Given the description of an element on the screen output the (x, y) to click on. 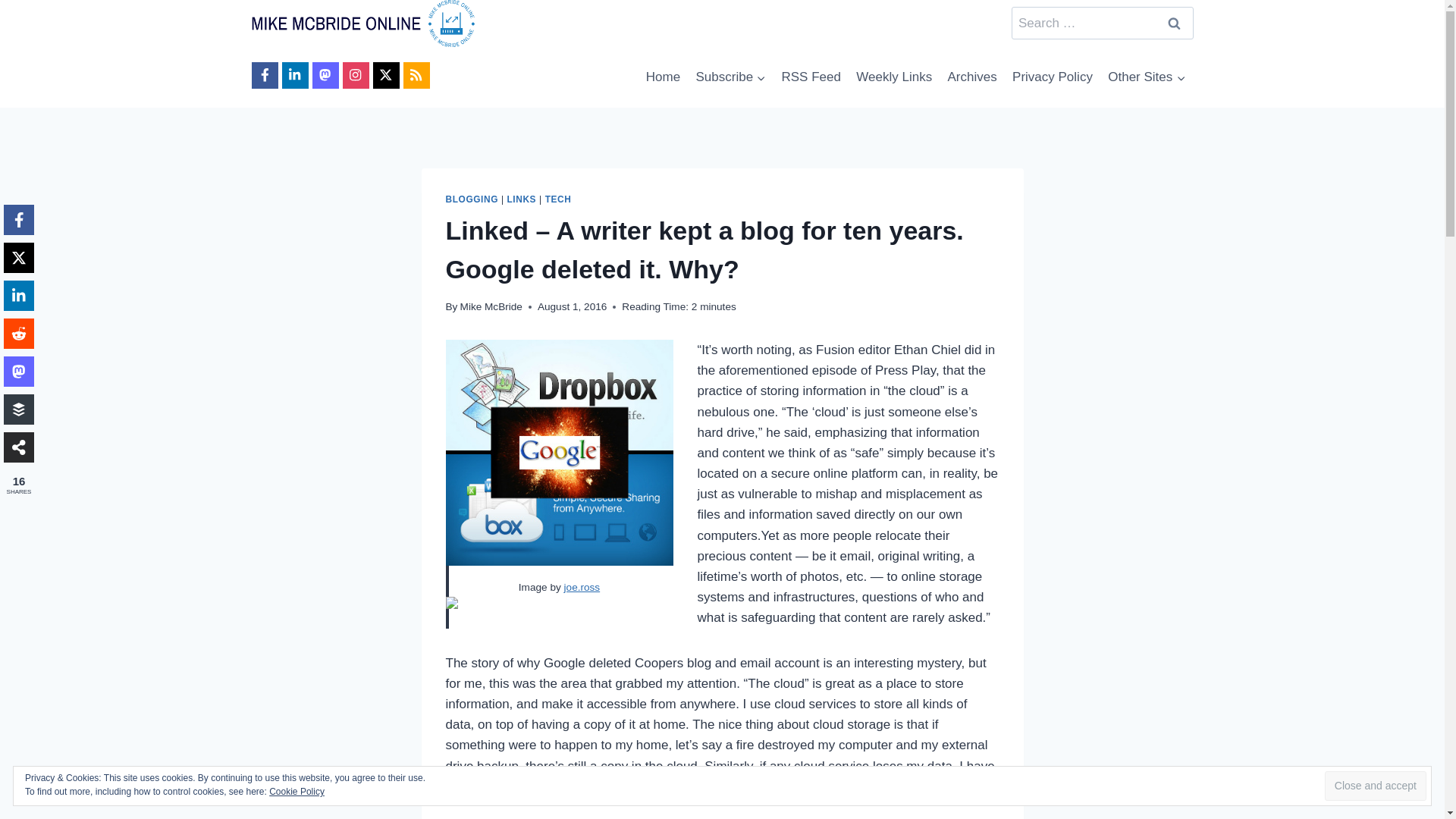
Weekly Links (893, 76)
LINKS (520, 199)
BLOGGING (472, 199)
Search (1174, 22)
Other Sites (1146, 76)
Privacy Policy (1052, 76)
Attribution-ShareAlike License (558, 610)
RSS Feed (810, 76)
Close and accept (1375, 785)
TECH (558, 199)
